Given the description of an element on the screen output the (x, y) to click on. 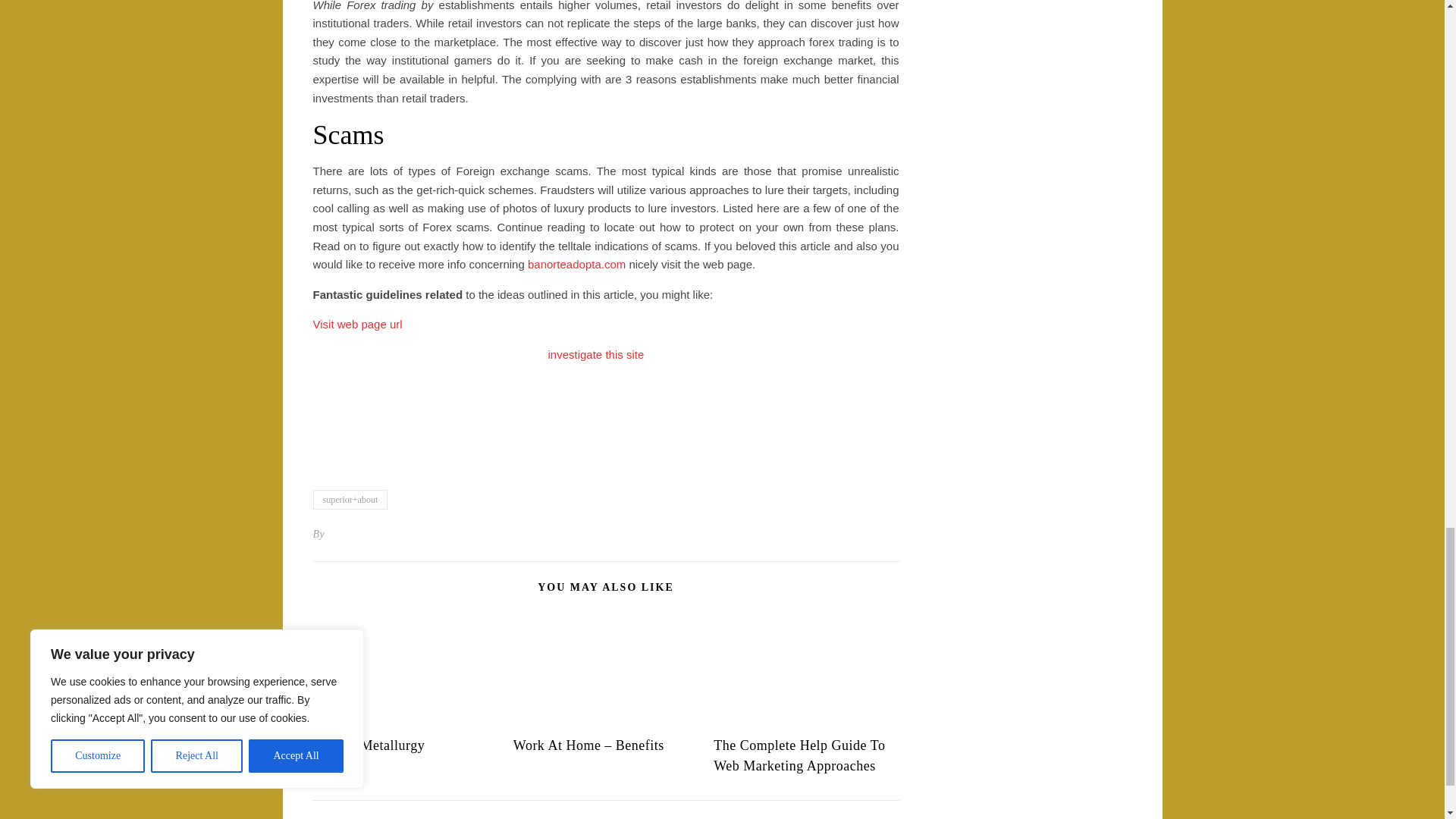
investigate this site (595, 354)
banorteadopta.com (576, 264)
The Complete Help Guide To Web Marketing Approaches (799, 755)
Powder Metallurgy (369, 744)
Visit web page url (357, 323)
